Given the description of an element on the screen output the (x, y) to click on. 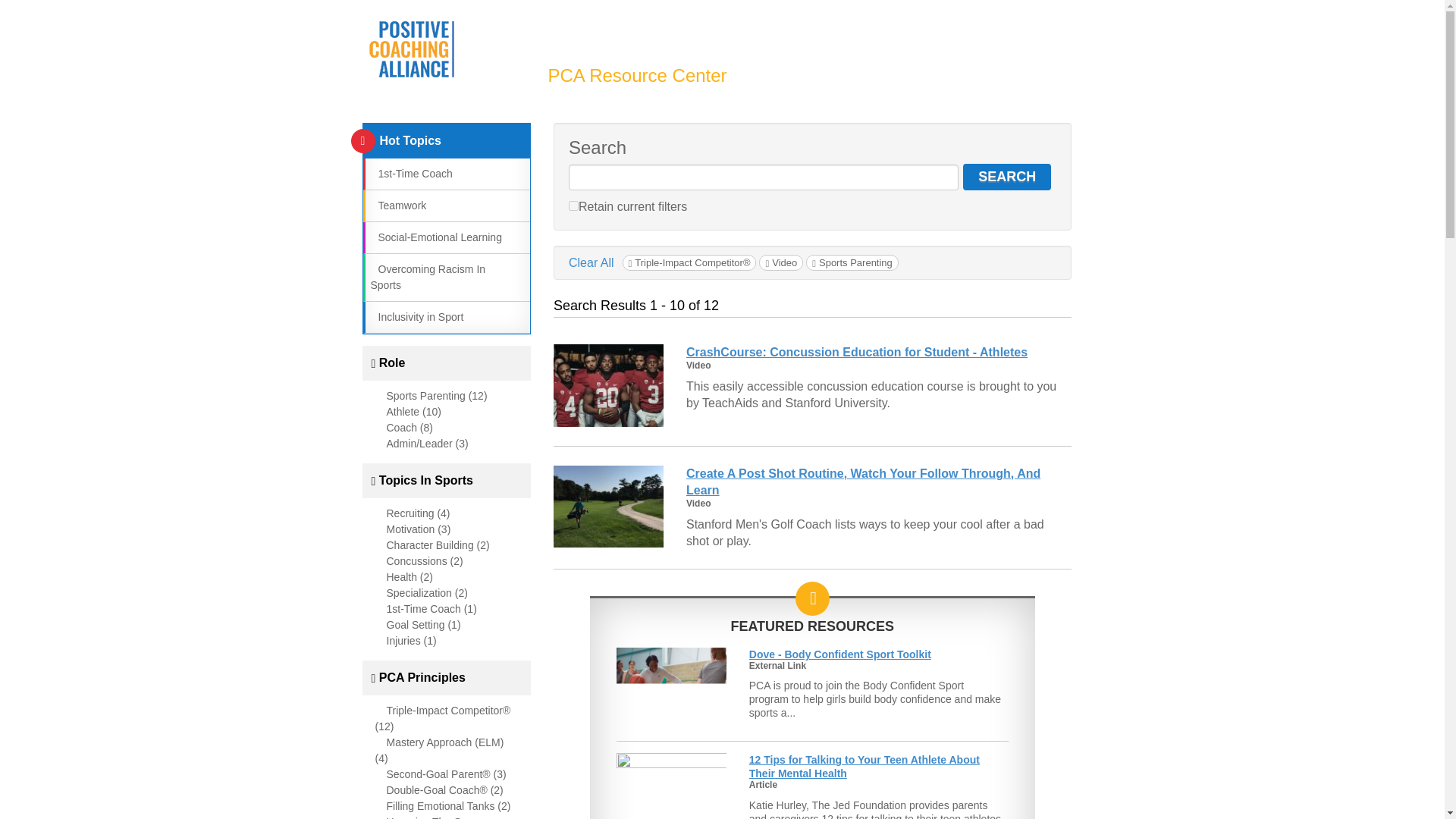
SEARCH (1006, 176)
Overcoming Racism In Sports (426, 276)
CrashCourse: Concussion Education for Student - Athletes (856, 351)
1st-Time Coach (410, 173)
Teamwork (397, 205)
Clear All (591, 262)
Sports Parenting (852, 262)
Video (780, 262)
Inclusivity in Sport (416, 316)
1 (573, 205)
